Given the description of an element on the screen output the (x, y) to click on. 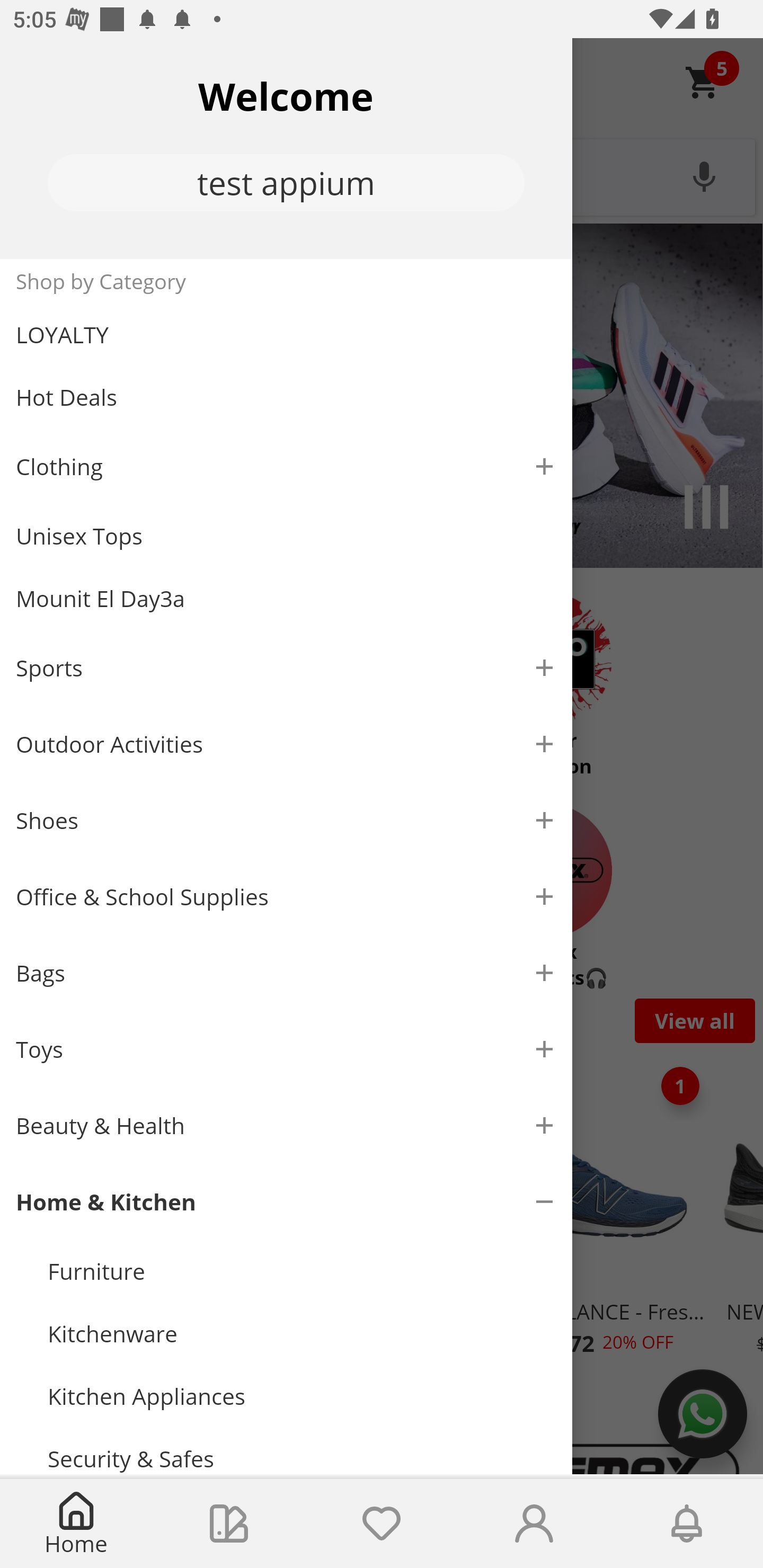
Welcome test appium (286, 147)
What are you looking for? (381, 175)
LOYALTY (286, 334)
Hot Deals (286, 396)
Clothing (286, 466)
Unisex Tops (286, 535)
Mounit El Day3a (286, 598)
Sports (286, 667)
Outdoor Activities (286, 743)
Shoes (286, 820)
Office & School Supplies (286, 896)
Bags (286, 972)
Toys (286, 1049)
Beauty & Health (286, 1125)
Furniture (302, 1271)
Kitchenware (302, 1334)
Kitchen Appliances (302, 1395)
Security & Safes (302, 1449)
Collections (228, 1523)
Wishlist (381, 1523)
Account (533, 1523)
Notifications (686, 1523)
